Given the description of an element on the screen output the (x, y) to click on. 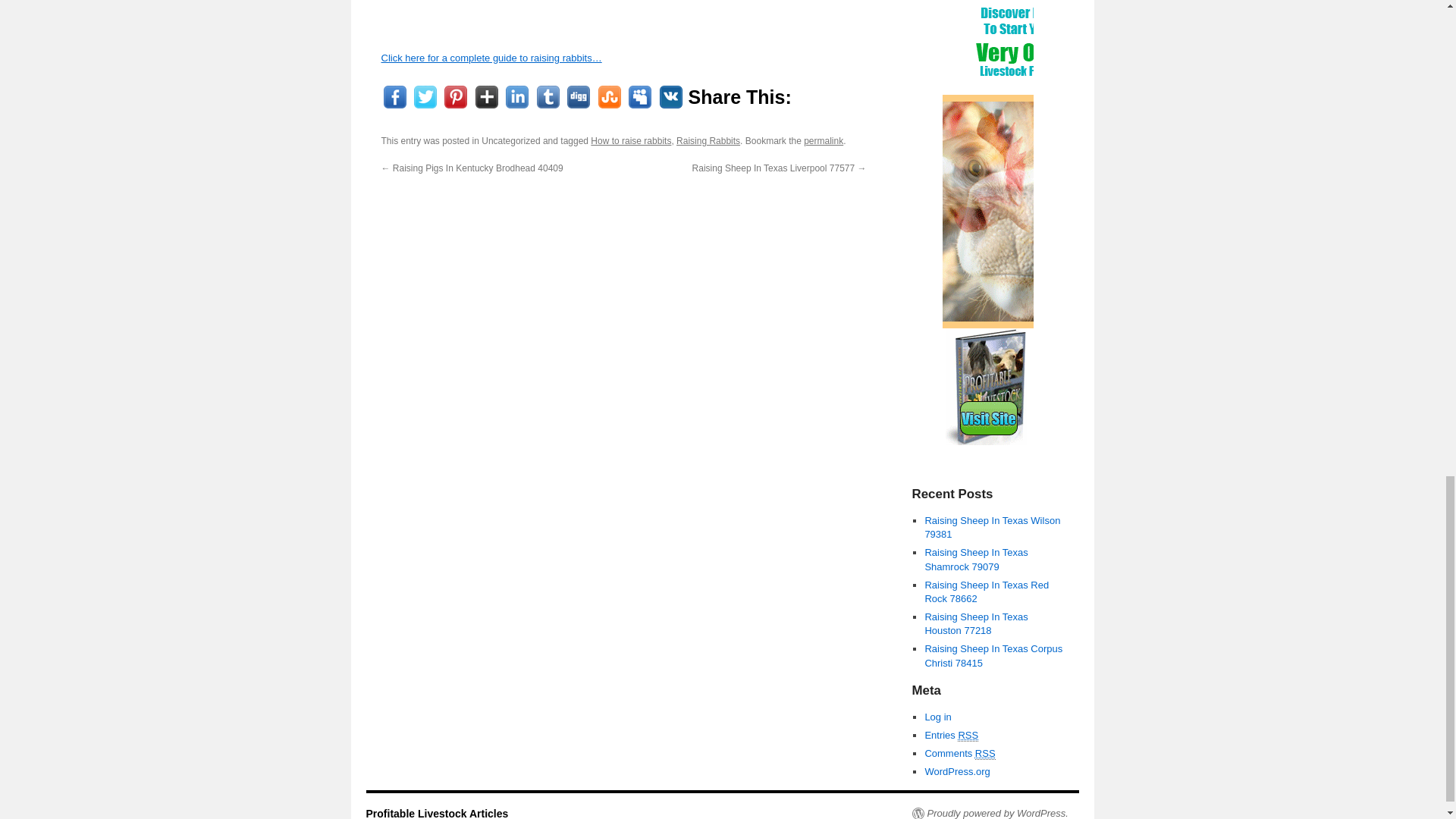
Really Simple Syndication (968, 735)
Really Simple Syndication (985, 753)
permalink (823, 140)
Raising Rabbits (708, 140)
How to raise rabbits (631, 140)
